Given the description of an element on the screen output the (x, y) to click on. 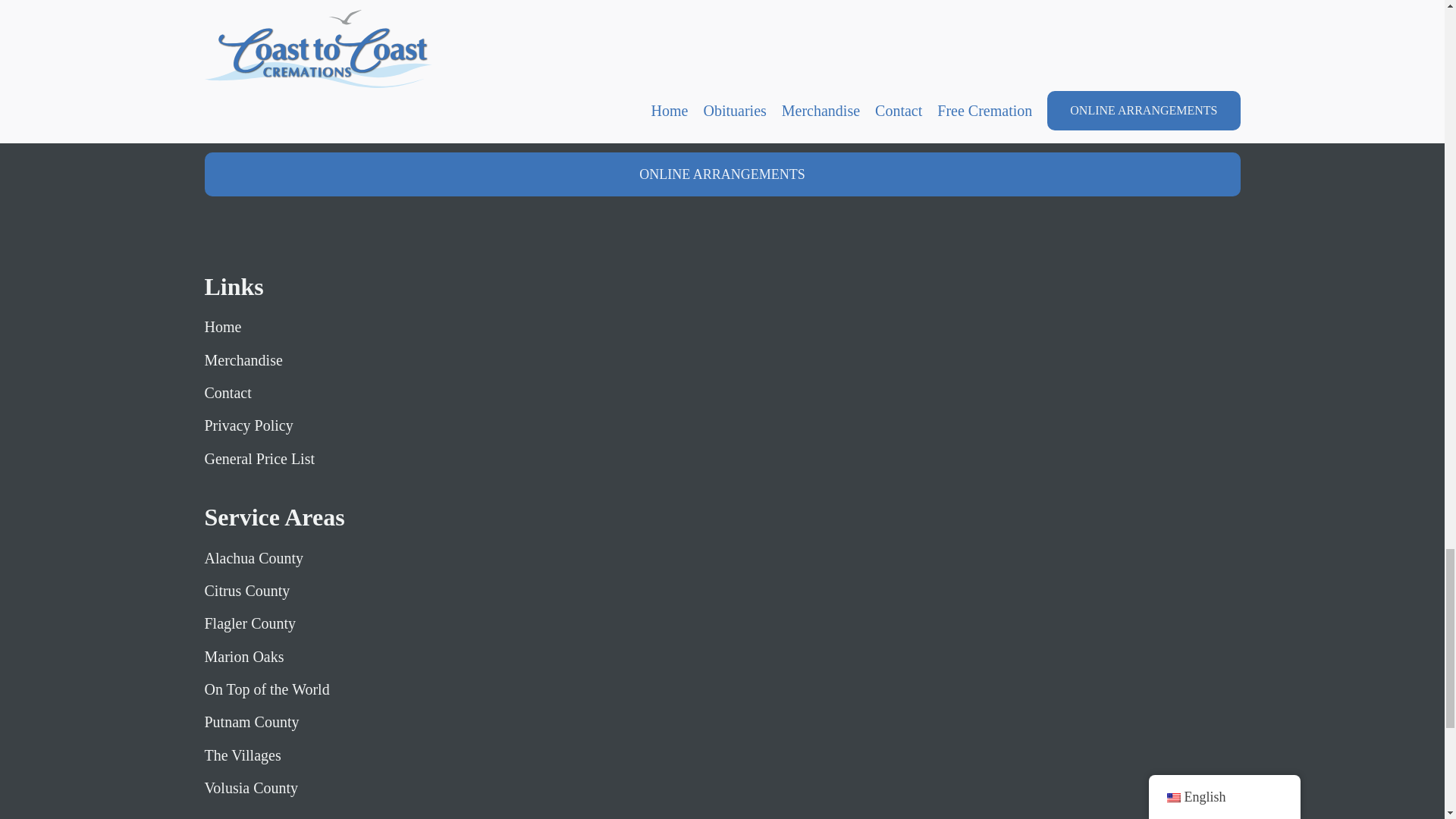
Merchandise (260, 359)
Citrus County (267, 590)
ONLINE ARRANGEMENTS (722, 174)
General Price List (260, 458)
Privacy Policy (260, 425)
Marion Oaks (267, 656)
Flagler County (267, 622)
Alachua County (267, 558)
On Top of the World (267, 689)
Home (260, 326)
